Given the description of an element on the screen output the (x, y) to click on. 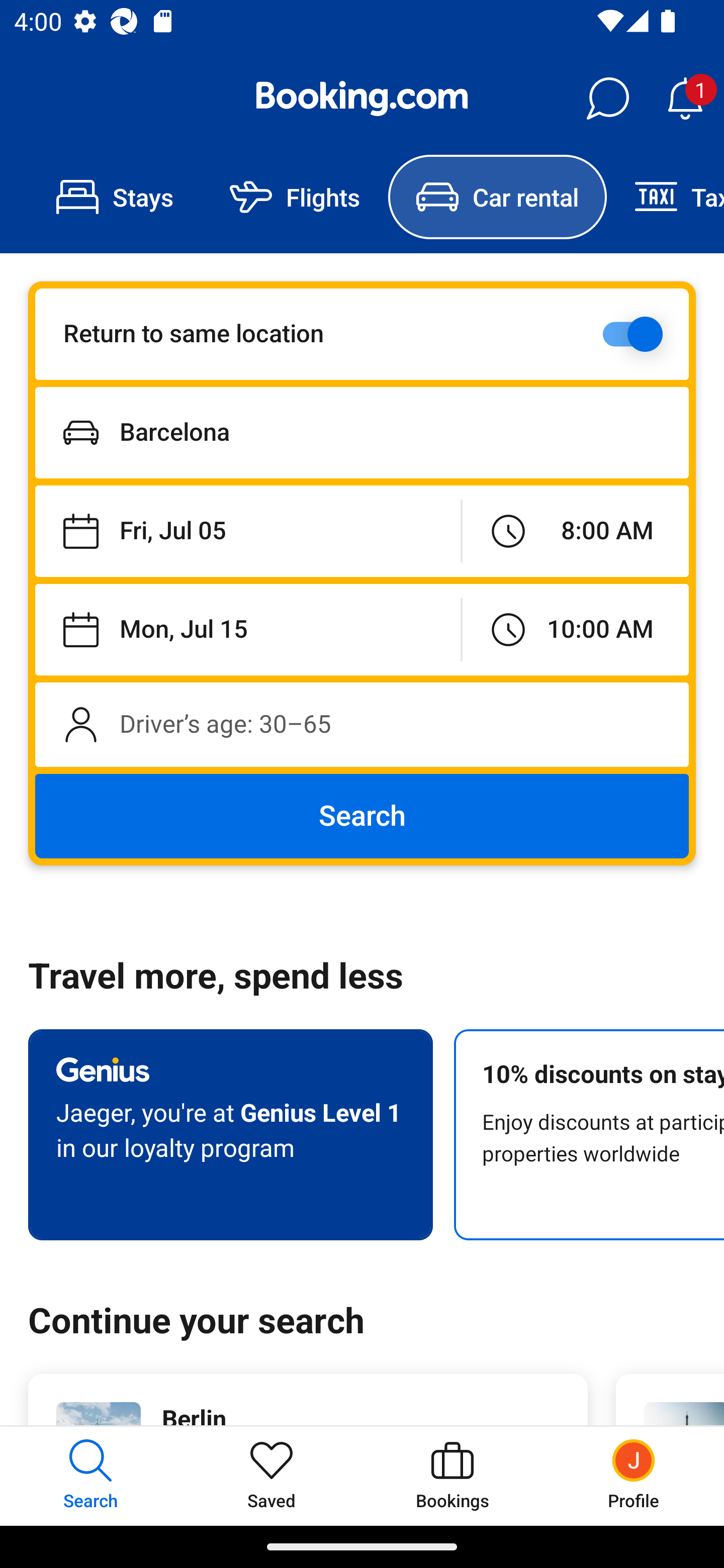
Messages (607, 98)
Notifications (685, 98)
Stays (114, 197)
Flights (294, 197)
Car rental (497, 197)
Taxi (665, 197)
Pick-up location: Text(name=Barcelona) (361, 432)
Pick-up date: 2024-07-05 (247, 531)
Pick-up time: 08:00:00.000 (575, 531)
Drop-off date: 2024-07-15 (247, 629)
Drop-off time: 10:00:00.000 (575, 629)
Enter the driver's age (361, 724)
Search (361, 815)
Saved (271, 1475)
Bookings (452, 1475)
Profile (633, 1475)
